Given the description of an element on the screen output the (x, y) to click on. 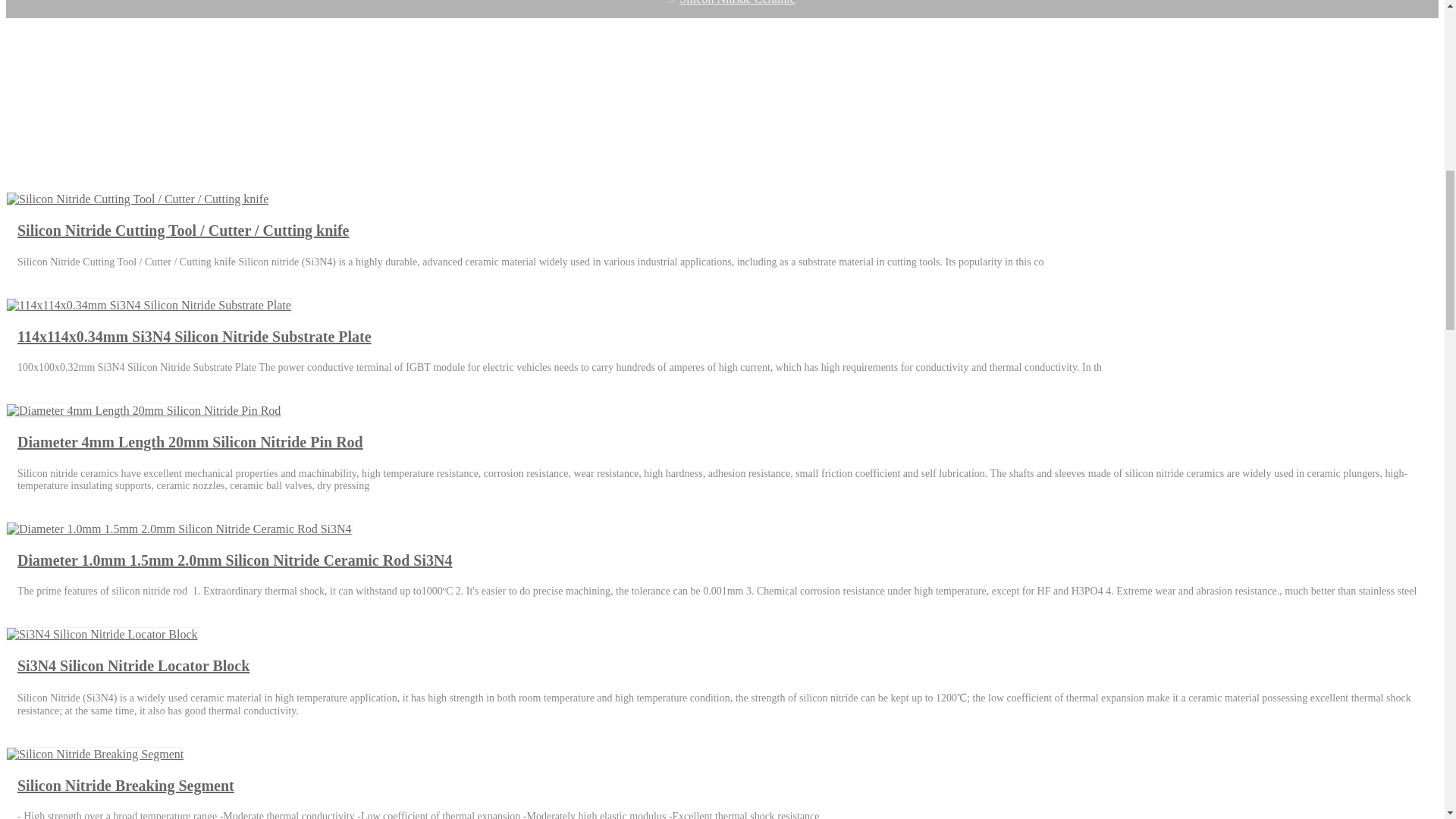
Si3N4 Silicon Nitride Locator Block (102, 634)
Diameter 4mm Length 20mm Silicon Nitride Pin Rod (144, 410)
Silicon Nitride Breaking Segment (95, 754)
Diameter 1.0mm 1.5mm 2.0mm Silicon Nitride Ceramic Rod Si3N4 (179, 529)
114x114x0.34mm Si3N4 Silicon Nitride Substrate Plate (149, 305)
